Given the description of an element on the screen output the (x, y) to click on. 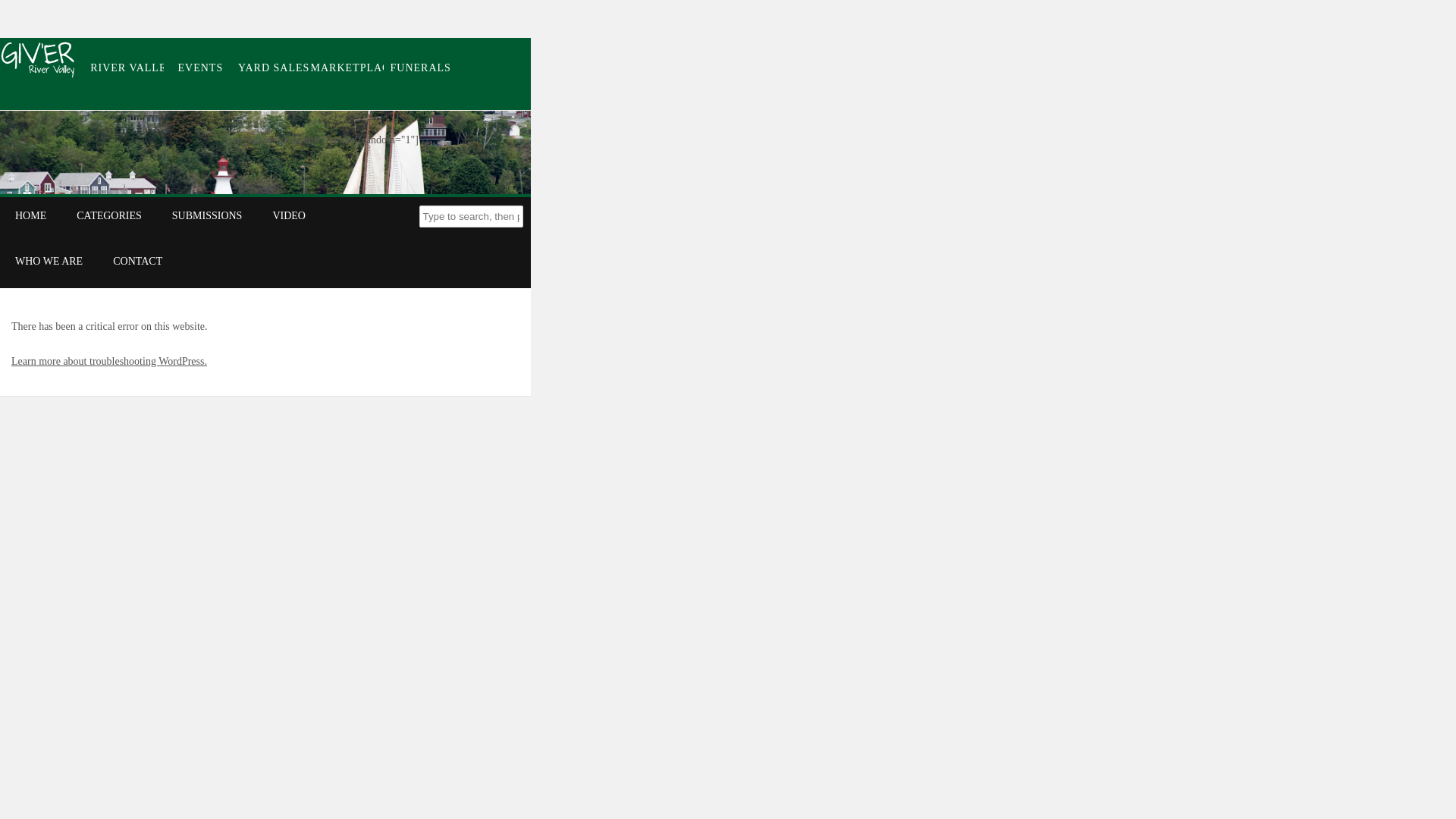
Search (23, 10)
RIVER VALLEY (126, 67)
CATEGORIES (109, 216)
Type to search, then press enter (470, 216)
VIDEO (288, 216)
HOME (30, 216)
SUBMISSIONS (207, 216)
YARD SALES (274, 67)
WHO WE ARE (48, 261)
EVENTS (200, 67)
